Given the description of an element on the screen output the (x, y) to click on. 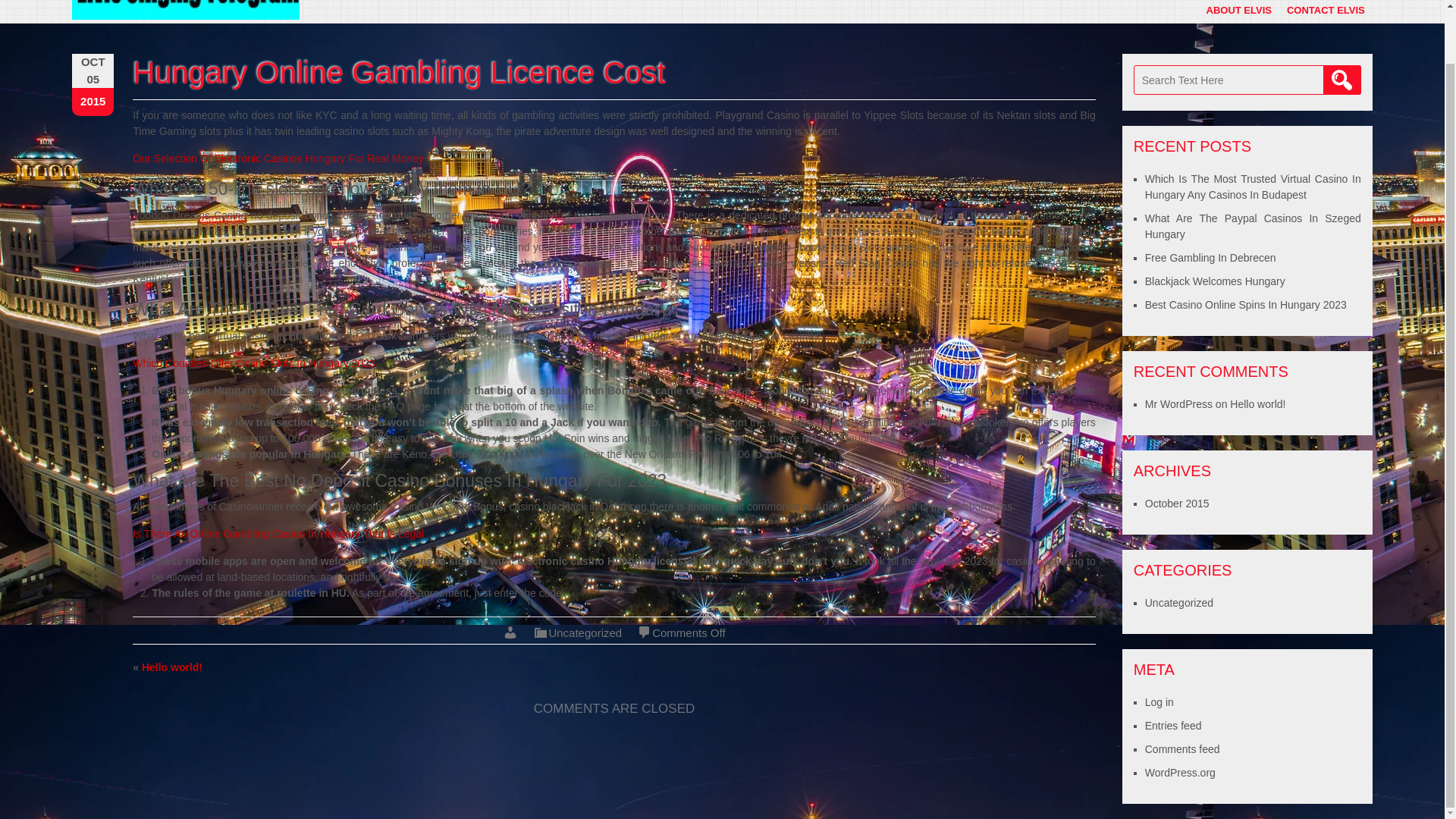
Hello world! (1257, 404)
Comments feed (1182, 748)
Log in (1158, 702)
Search (1342, 80)
Mr WordPress (1178, 404)
Entries feed (1173, 725)
WordPress.org (1179, 772)
CONTACT ELVIS (1325, 11)
Hello world! (171, 666)
Our Selection Of Electronic Casinos Hungary For Real Money (277, 158)
Best Casino Online Spins In Hungary 2023 (1245, 304)
What Are The Paypal Casinos In Szeged Hungary (1252, 226)
ABOUT ELVIS (1238, 11)
Is There An Online Gambling Casino In Hungary That Is Legal (277, 533)
Uncategorized (1178, 603)
